Given the description of an element on the screen output the (x, y) to click on. 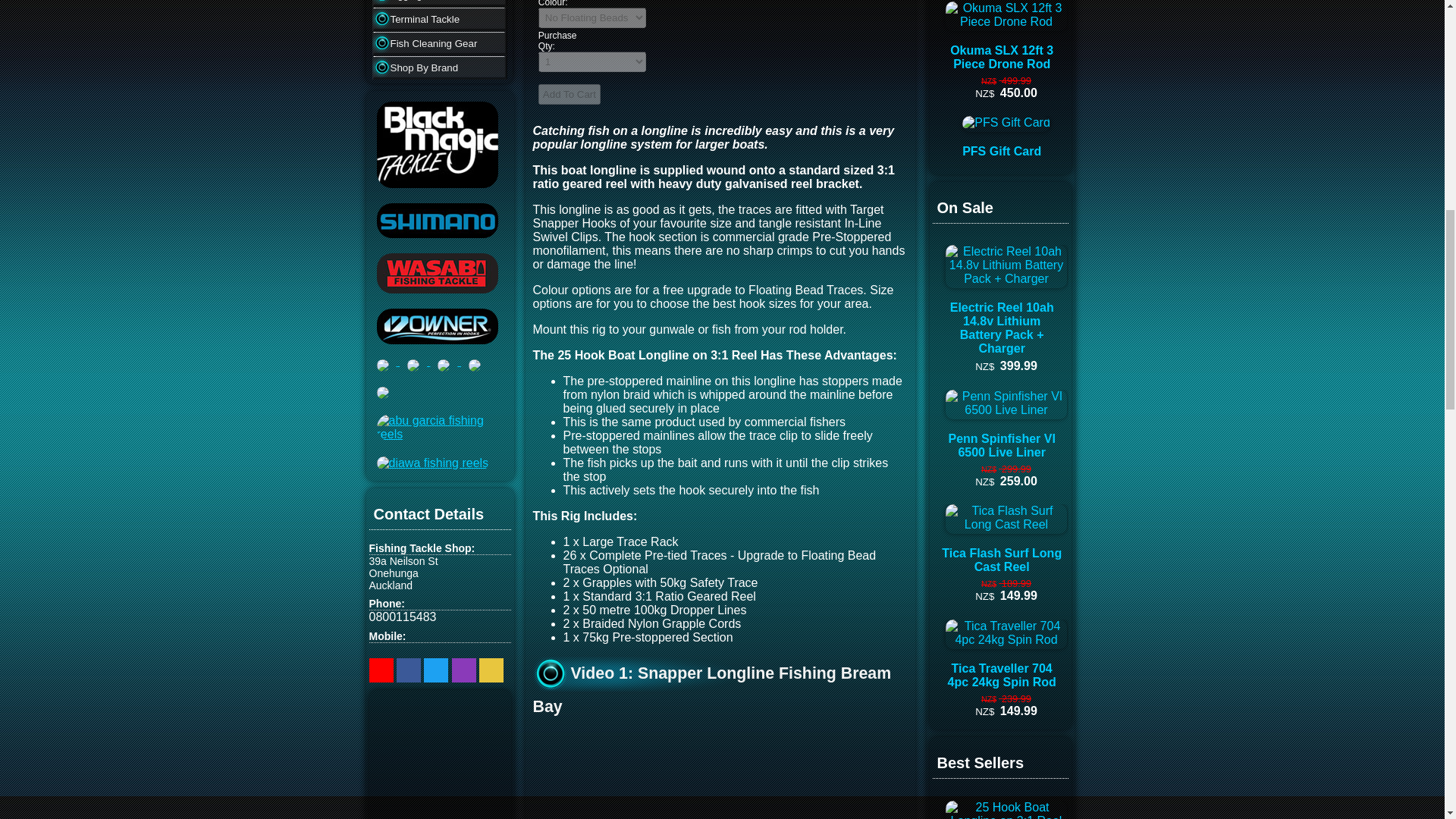
Add To Cart (568, 94)
Connect with us: YouTube paulauckland (380, 669)
Connect with us: Facebook PaulsFishingSystems (408, 669)
